Given the description of an element on the screen output the (x, y) to click on. 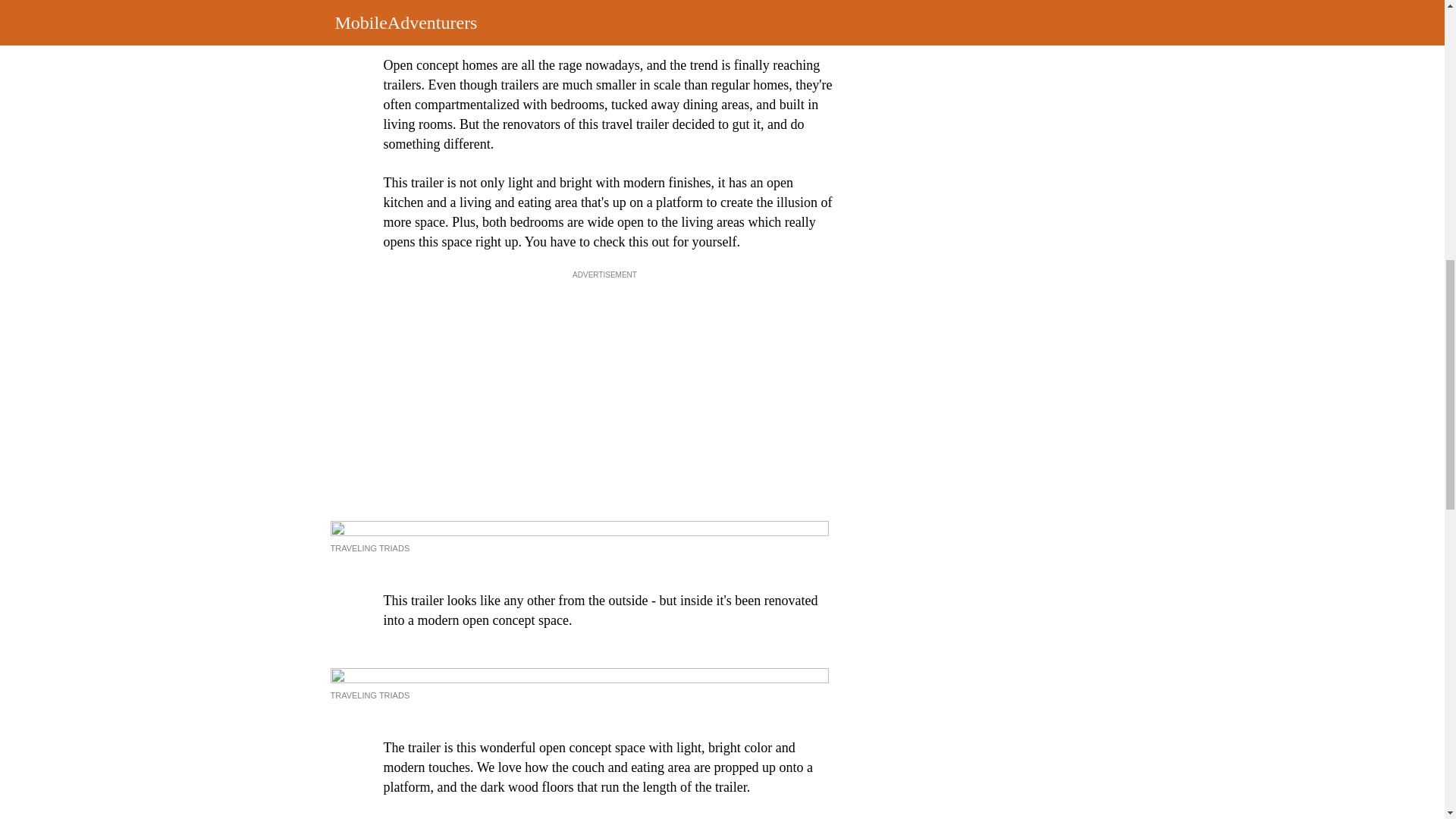
TRAVELING TRIADS (370, 695)
TRAVELING TRIADS (370, 547)
